Given the description of an element on the screen output the (x, y) to click on. 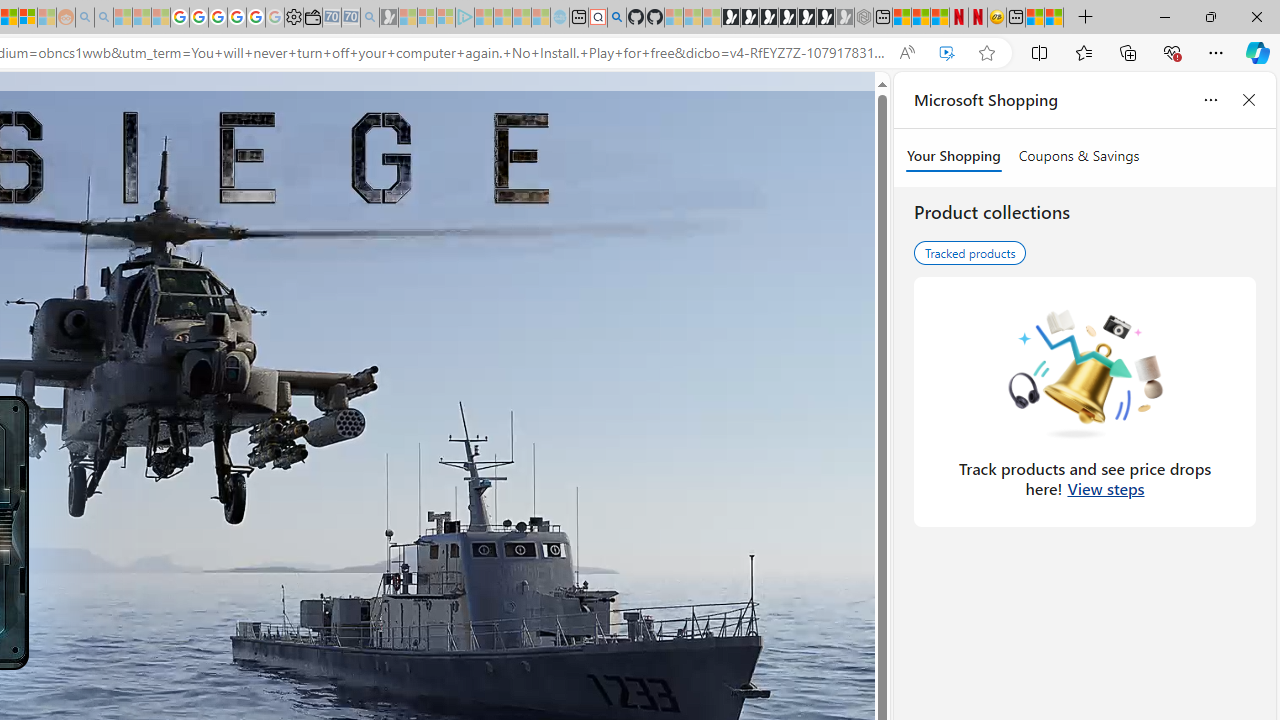
Wildlife - MSN (1035, 17)
Microsoft Start Gaming - Sleeping (389, 17)
Bing Real Estate - Home sales and rental listings - Sleeping (369, 17)
